Given the description of an element on the screen output the (x, y) to click on. 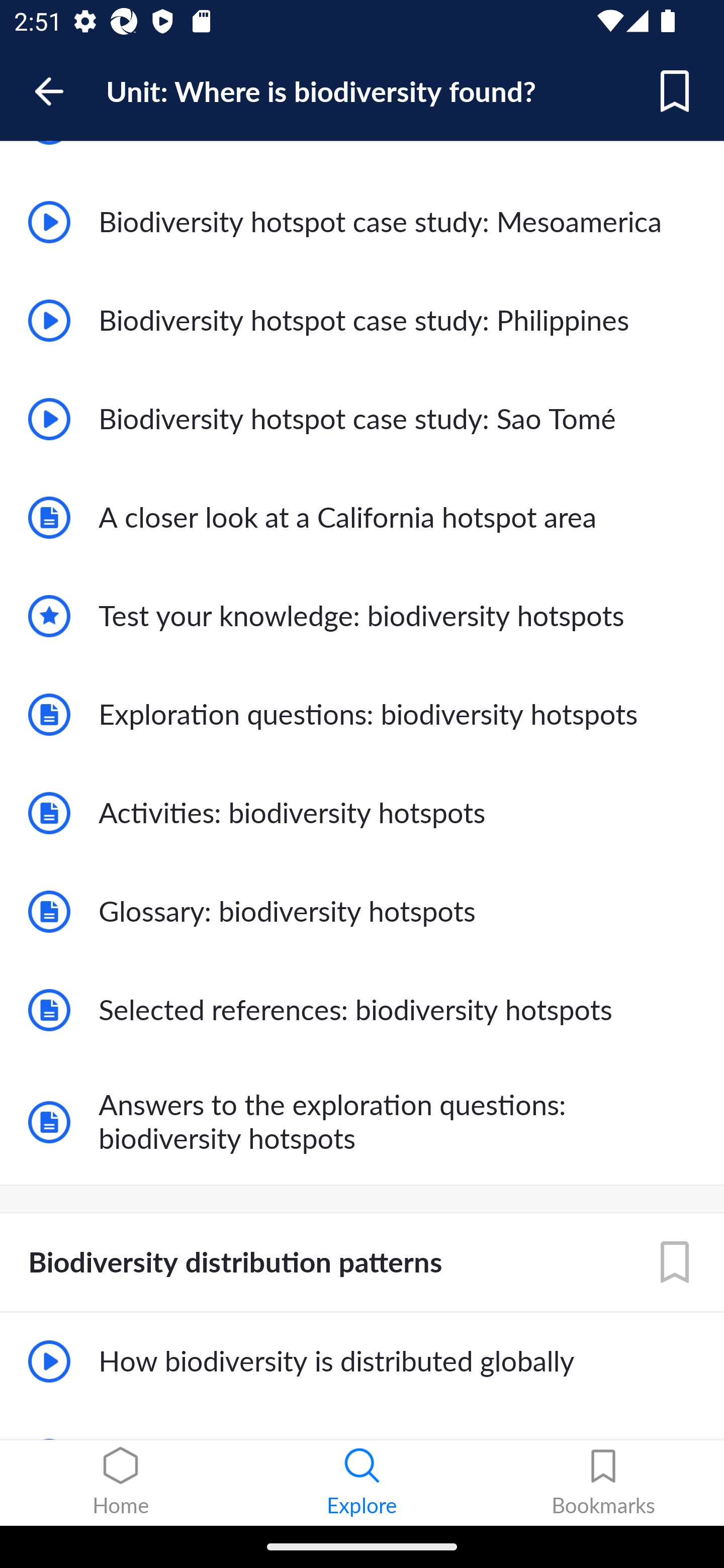
Back (58, 91)
Add Bookmark (674, 91)
Biodiversity hotspot case study: Mesoamerica (362, 221)
Biodiversity hotspot case study: Philippines (362, 320)
Biodiversity hotspot case study: Sao Tomé (362, 419)
A closer look at a California hotspot area (362, 517)
Test your knowledge: biodiversity hotspots (362, 615)
Exploration questions: biodiversity hotspots (362, 713)
Activities: biodiversity hotspots (362, 812)
Glossary: biodiversity hotspots (362, 911)
Selected references: biodiversity hotspots (362, 1010)
Add Bookmark (674, 1262)
How biodiversity is distributed globally (362, 1361)
Home (120, 1482)
Explore (361, 1482)
Bookmarks (603, 1482)
